Given the description of an element on the screen output the (x, y) to click on. 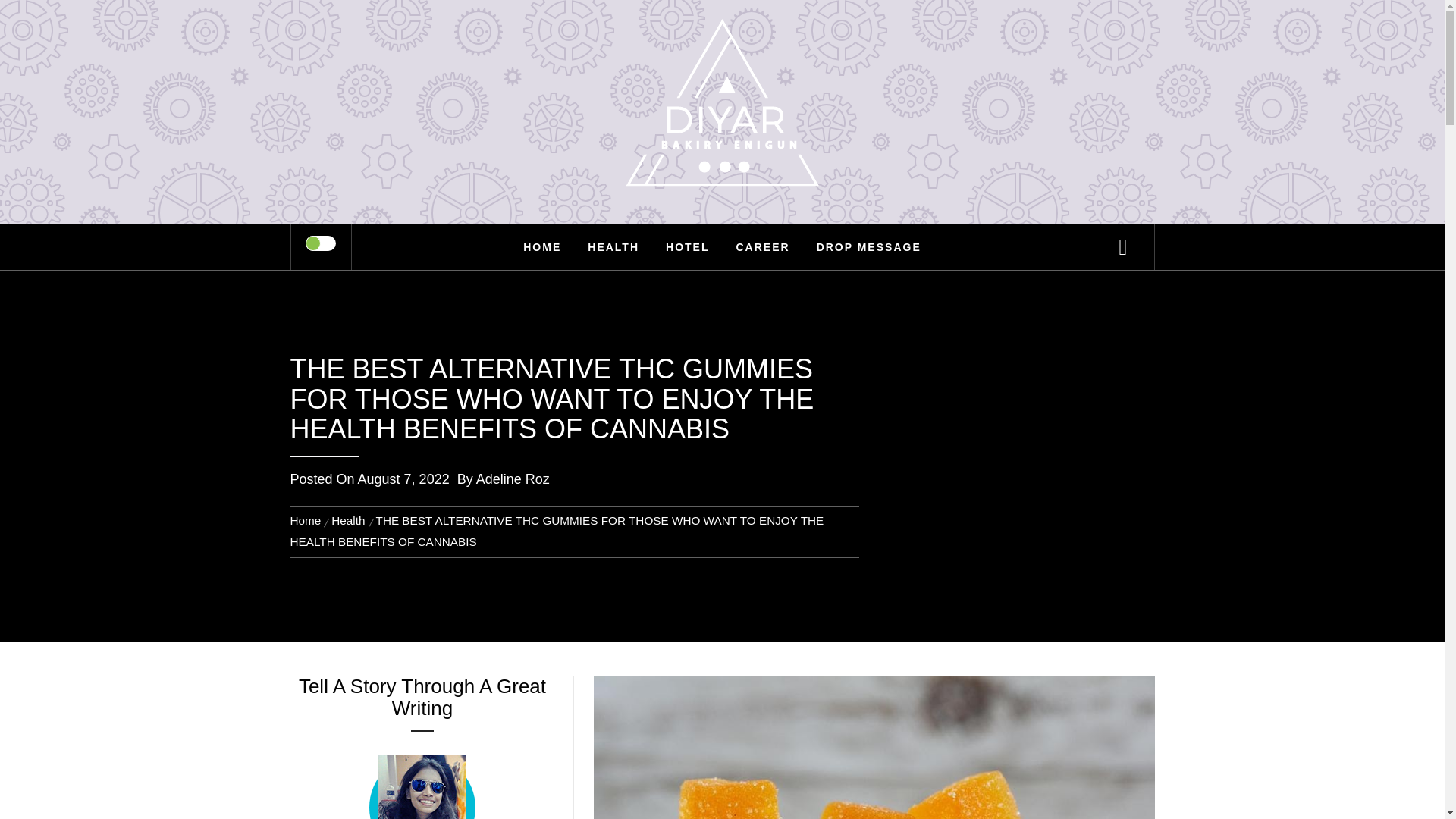
HOTEL (686, 247)
HOME (542, 247)
Health (347, 520)
CAREER (761, 247)
HEALTH (613, 247)
DROP MESSAGE (869, 247)
DIYAR BAKIRY ENIGUN (721, 61)
Adeline Roz (513, 478)
August 7, 2022 (403, 478)
Search (797, 33)
